Given the description of an element on the screen output the (x, y) to click on. 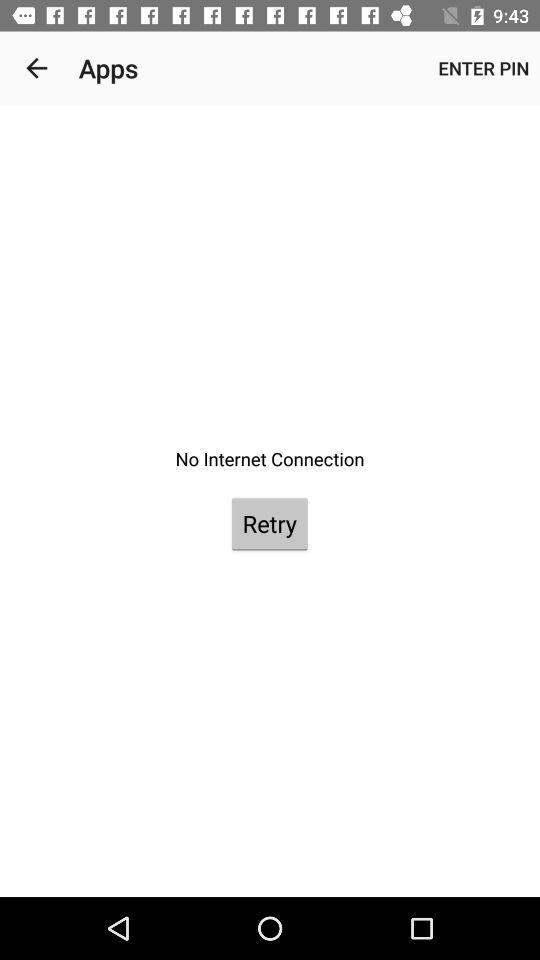
turn off the item to the left of apps (36, 68)
